Given the description of an element on the screen output the (x, y) to click on. 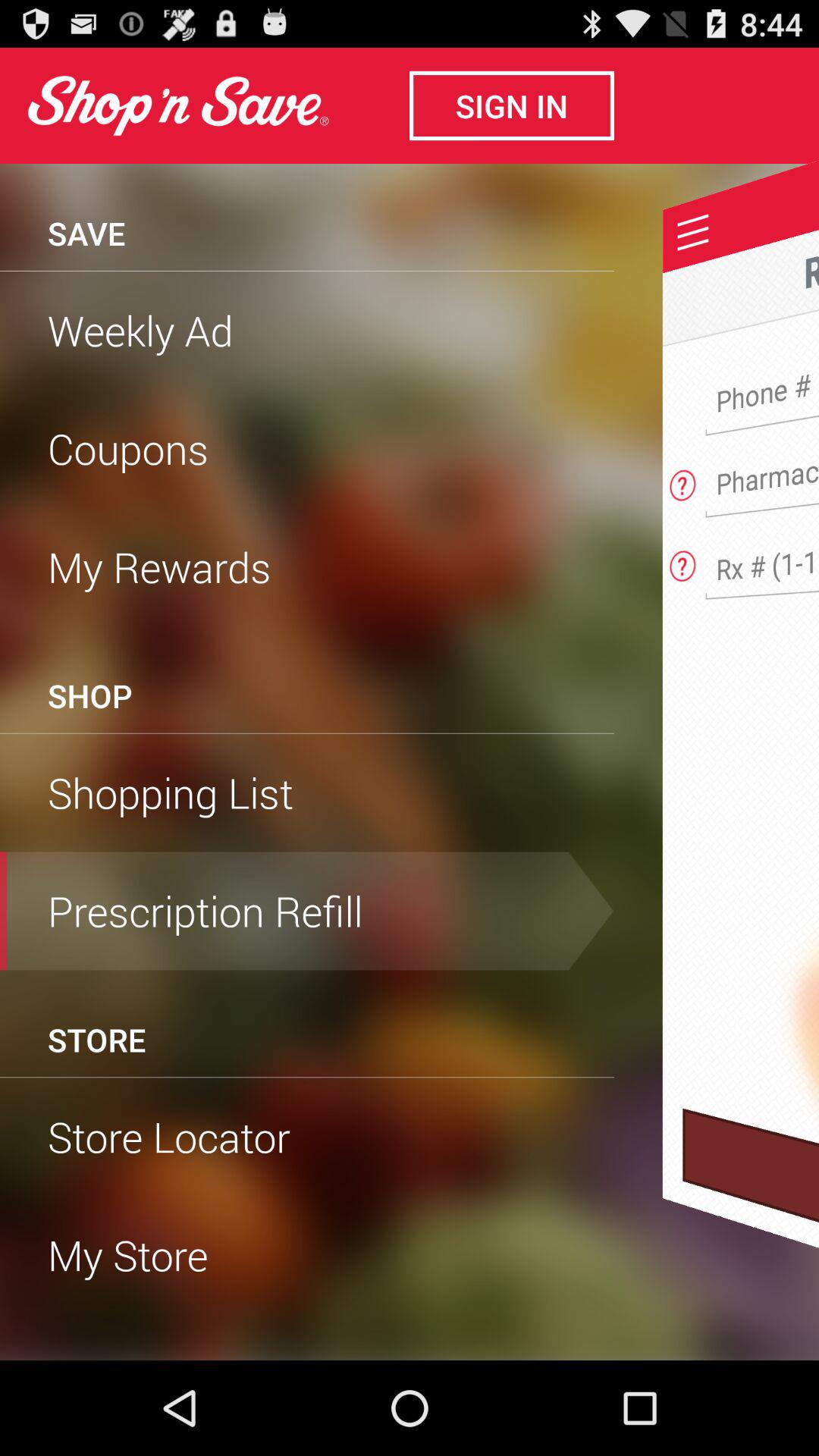
select the item to the right of store locator item (750, 1234)
